Given the description of an element on the screen output the (x, y) to click on. 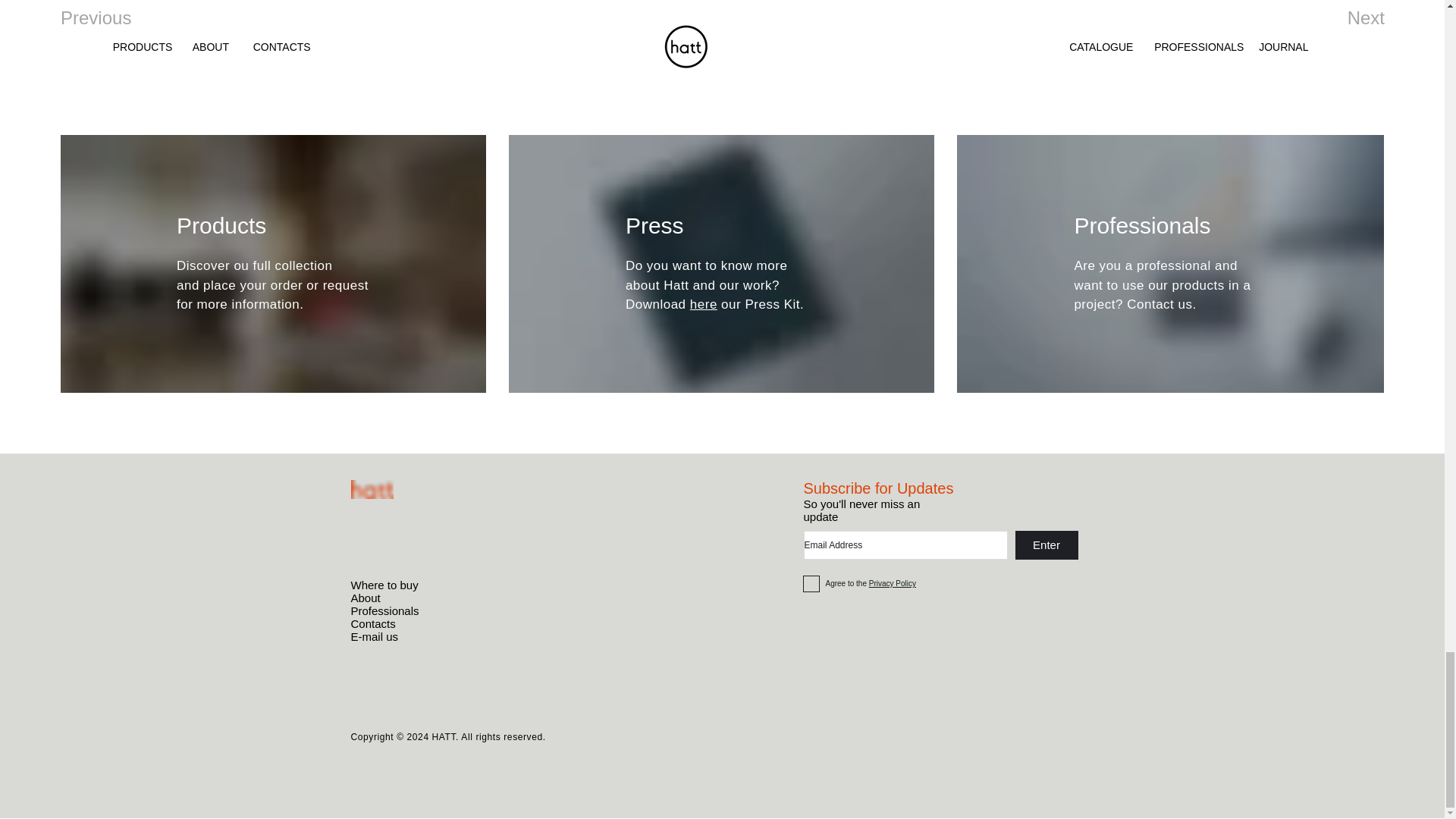
Previous (114, 18)
Enter (1045, 544)
E-mail us (373, 635)
for more information. (240, 304)
Contacts (372, 623)
Privacy Policy (892, 583)
Download here our Press Kit. (714, 304)
Discover ou full collection (254, 265)
and place your order or request (272, 284)
